Given the description of an element on the screen output the (x, y) to click on. 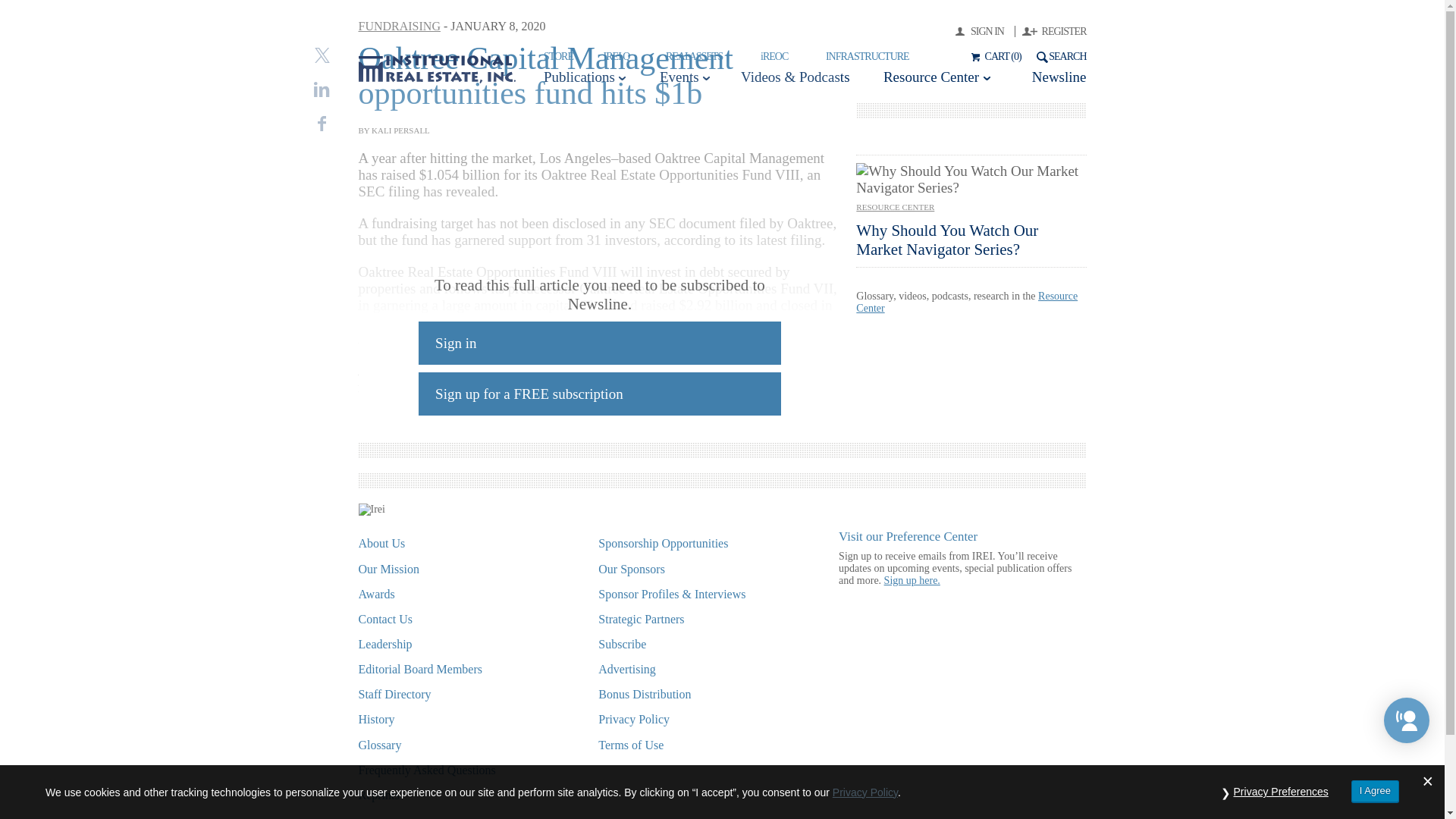
View your shopping cart (994, 56)
LinkedIn (321, 88)
INFRASTRUCTURE (866, 56)
Twitter (321, 55)
REGISTER (1054, 30)
iREOC (773, 56)
SIGN IN (984, 30)
IREI.Q (617, 56)
REAL ASSETS (693, 56)
STORE (558, 56)
